Given the description of an element on the screen output the (x, y) to click on. 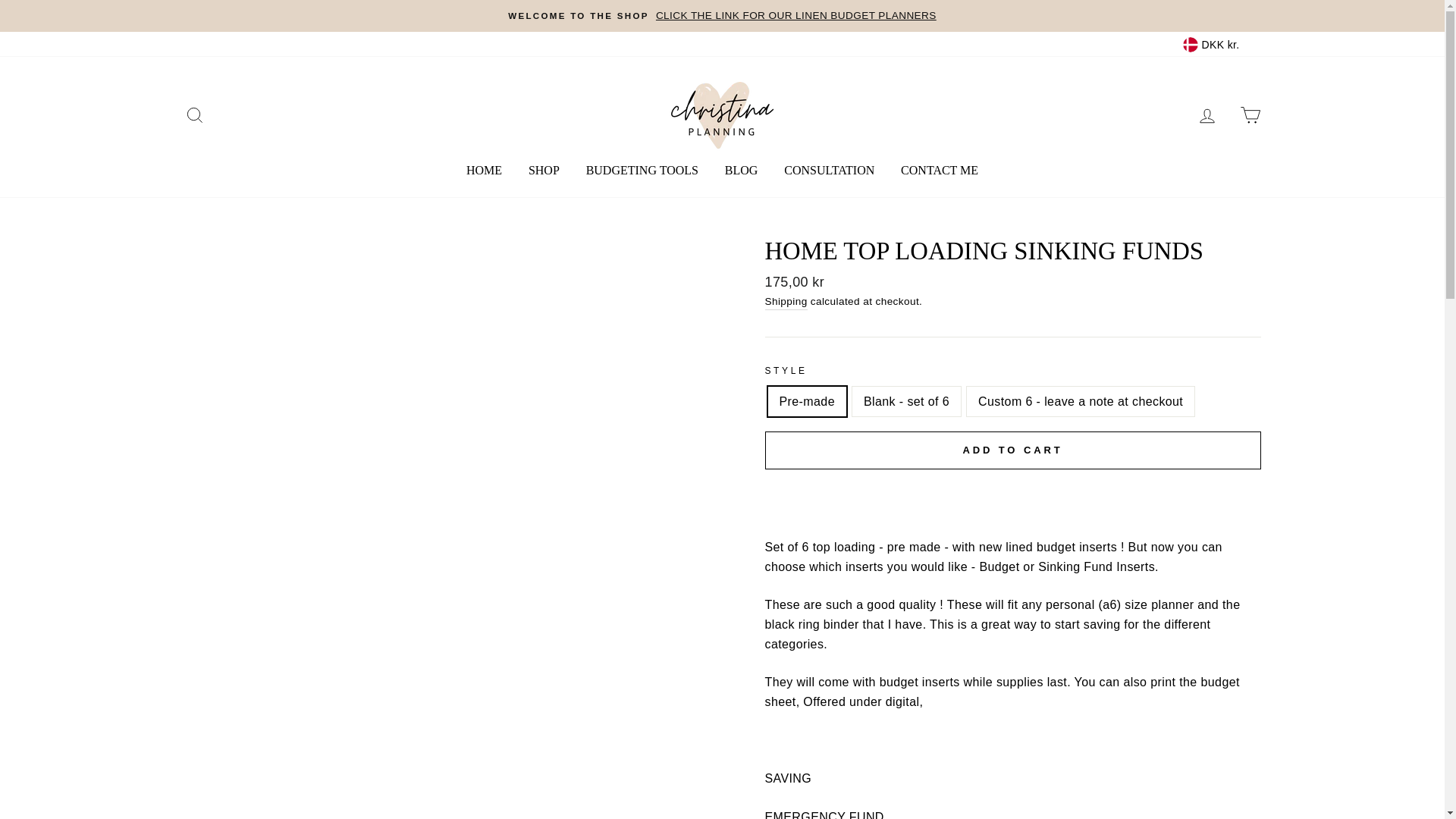
DKK kr. (1218, 43)
